Given the description of an element on the screen output the (x, y) to click on. 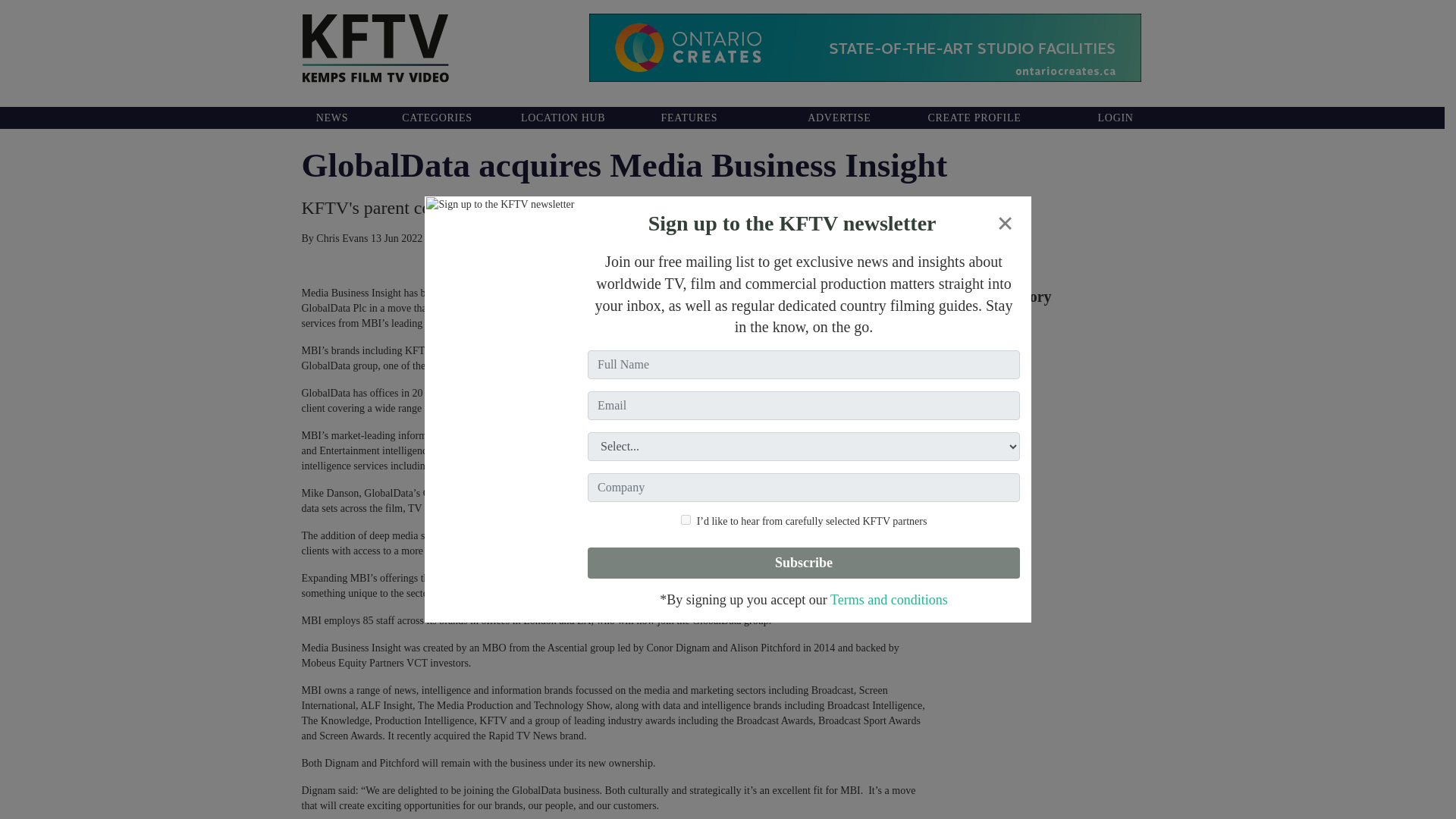
FEATURES (689, 117)
3rd party ad content (865, 47)
NEWS (331, 117)
LOCATION HUB (563, 117)
CREATE PROFILE (973, 117)
6329434 (685, 519)
ADVERTISE (839, 117)
LOGIN (1115, 117)
CATEGORIES (436, 117)
